Given the description of an element on the screen output the (x, y) to click on. 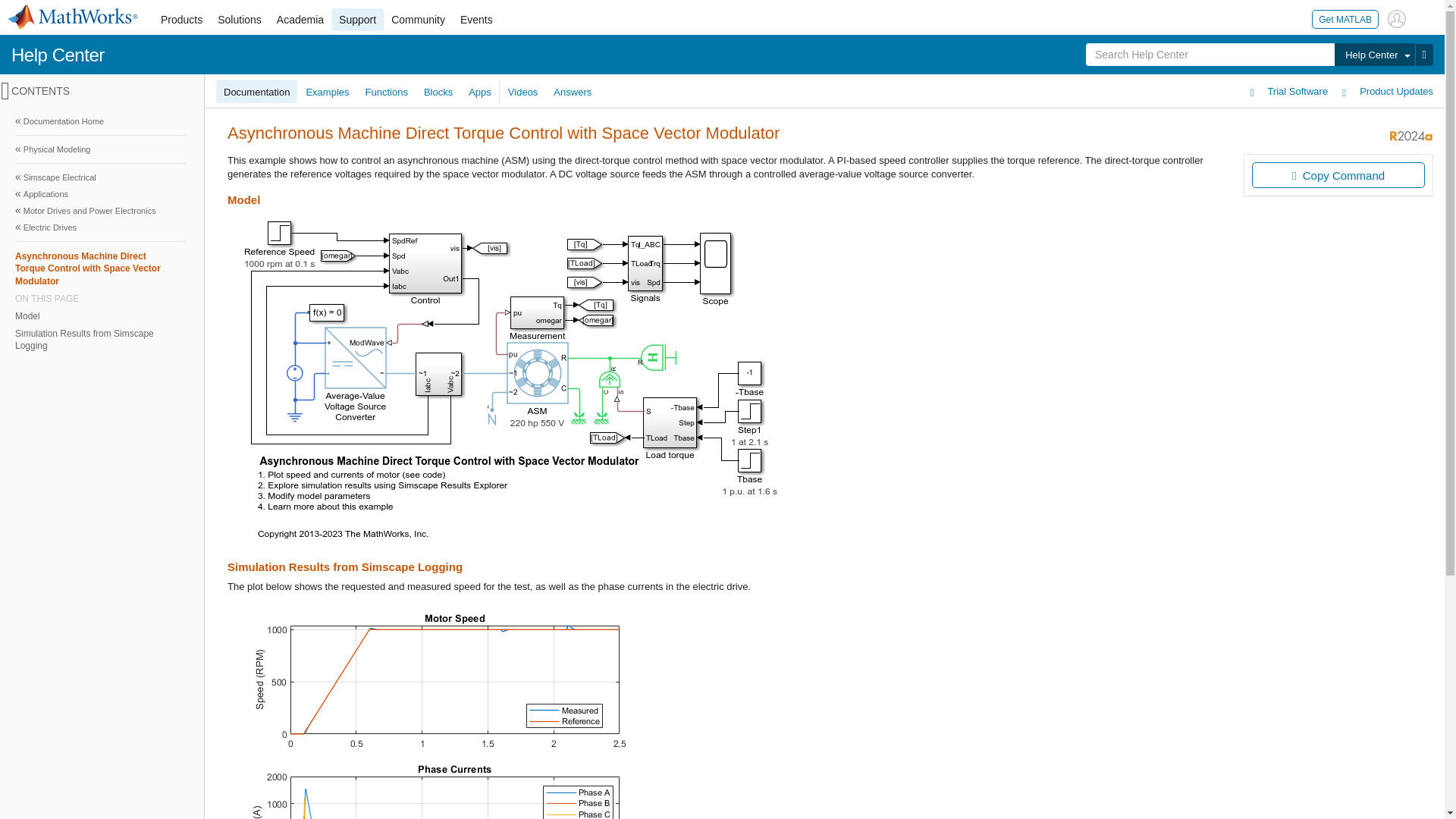
Help Center (57, 54)
Get MATLAB (1344, 18)
Community (418, 19)
Academia (300, 19)
Help Center (1374, 54)
Documentation Home (100, 121)
Motor Drives and Power Electronics (100, 210)
Applications (100, 193)
